Given the description of an element on the screen output the (x, y) to click on. 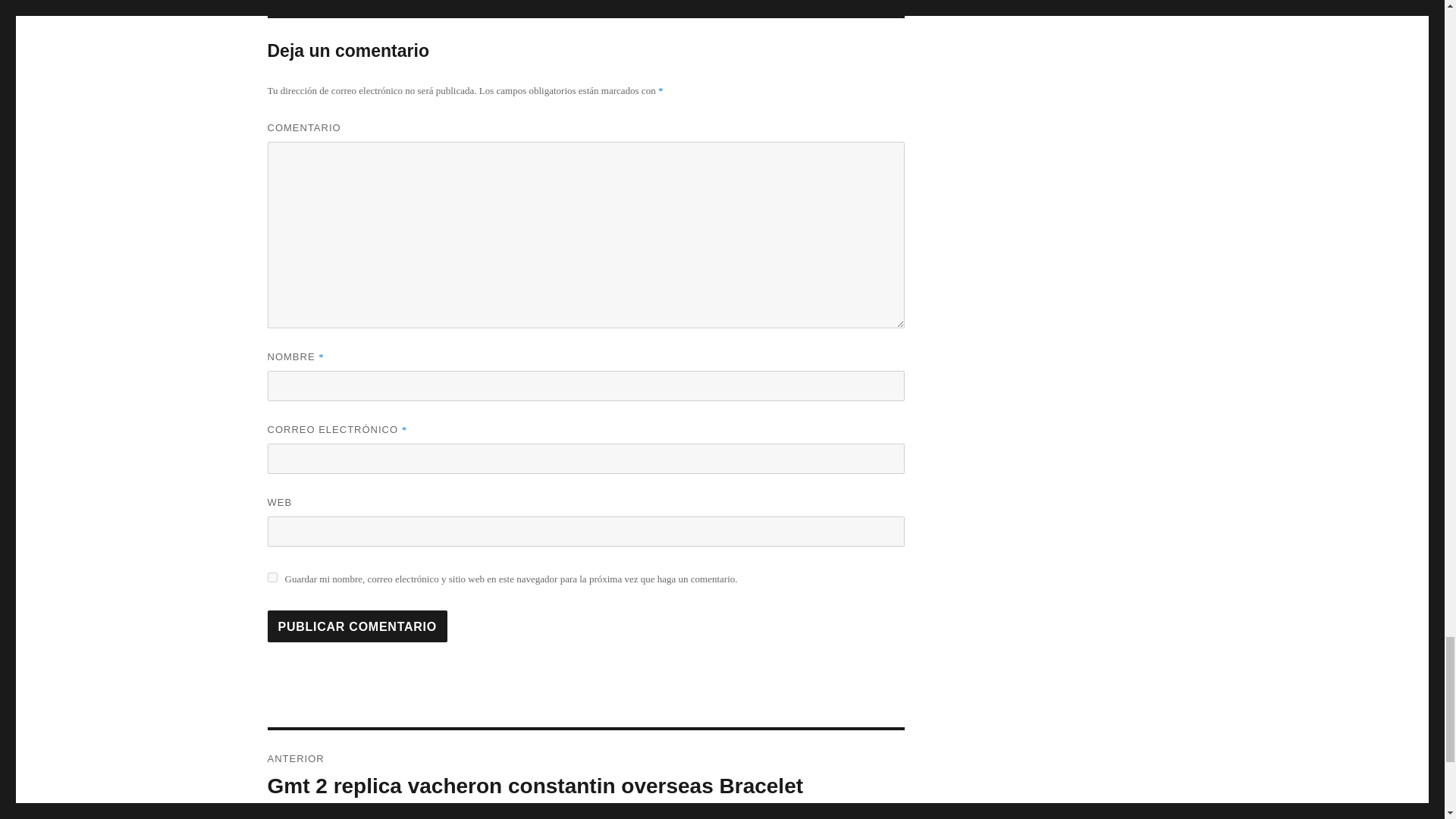
yes (271, 577)
Publicar comentario (356, 626)
Publicar comentario (356, 626)
